Given the description of an element on the screen output the (x, y) to click on. 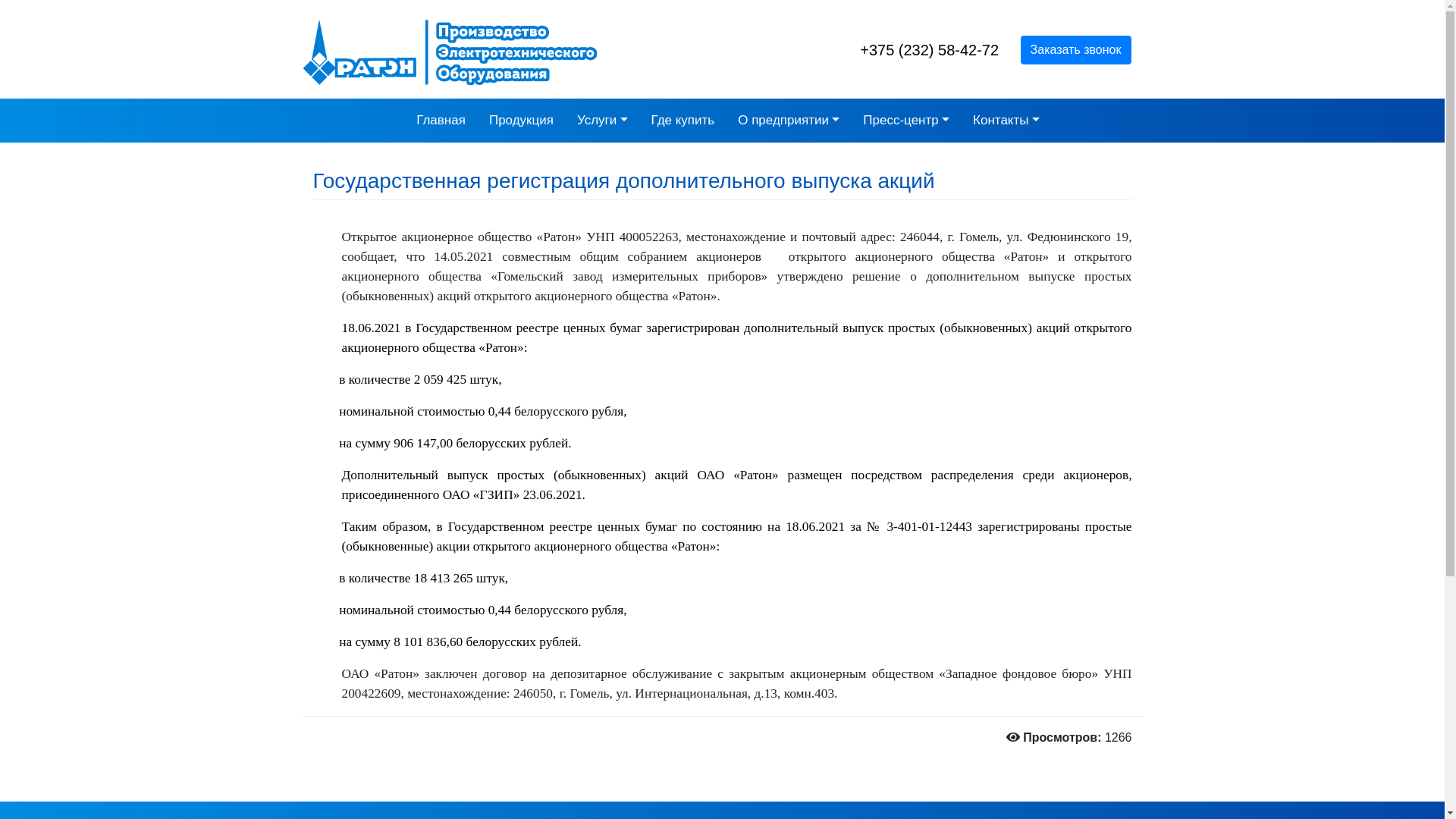
+375 (232) 58-42-72 Element type: text (928, 49)
